Given the description of an element on the screen output the (x, y) to click on. 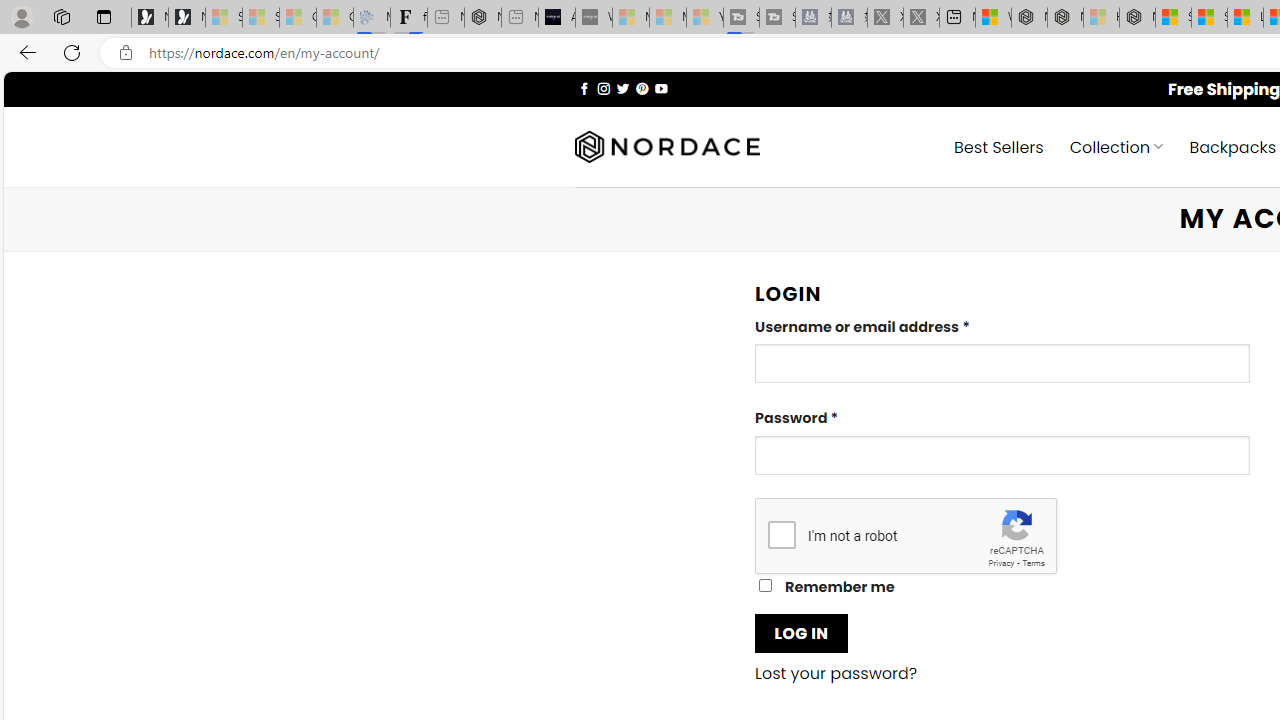
Follow on Pinterest (642, 88)
X - Sleeping (921, 17)
LOG IN (801, 632)
  Best Sellers (998, 146)
Nordace - Summer Adventures 2024 (1065, 17)
Newsletter Sign Up (186, 17)
Nordace - Nordace Siena Is Not An Ordinary Backpack (1137, 17)
Follow on Twitter (621, 88)
